Given the description of an element on the screen output the (x, y) to click on. 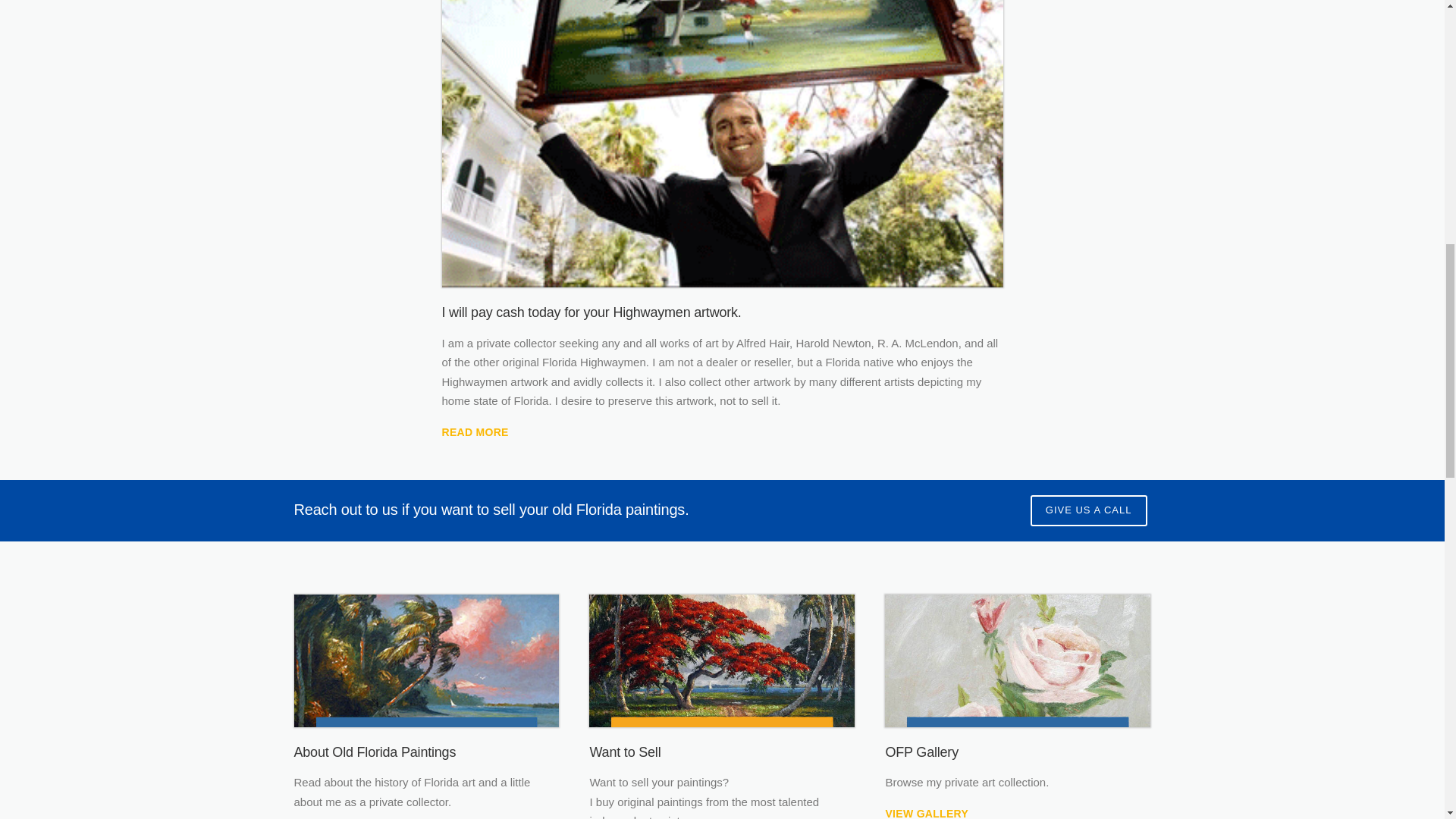
Services (721, 660)
About (474, 431)
VIEW GALLERY (926, 813)
Contact Us (1088, 510)
OFP Gallery (926, 813)
OFP Gallery (1017, 660)
GIVE US A CALL (1088, 510)
About (426, 660)
READ MORE (474, 431)
